Given the description of an element on the screen output the (x, y) to click on. 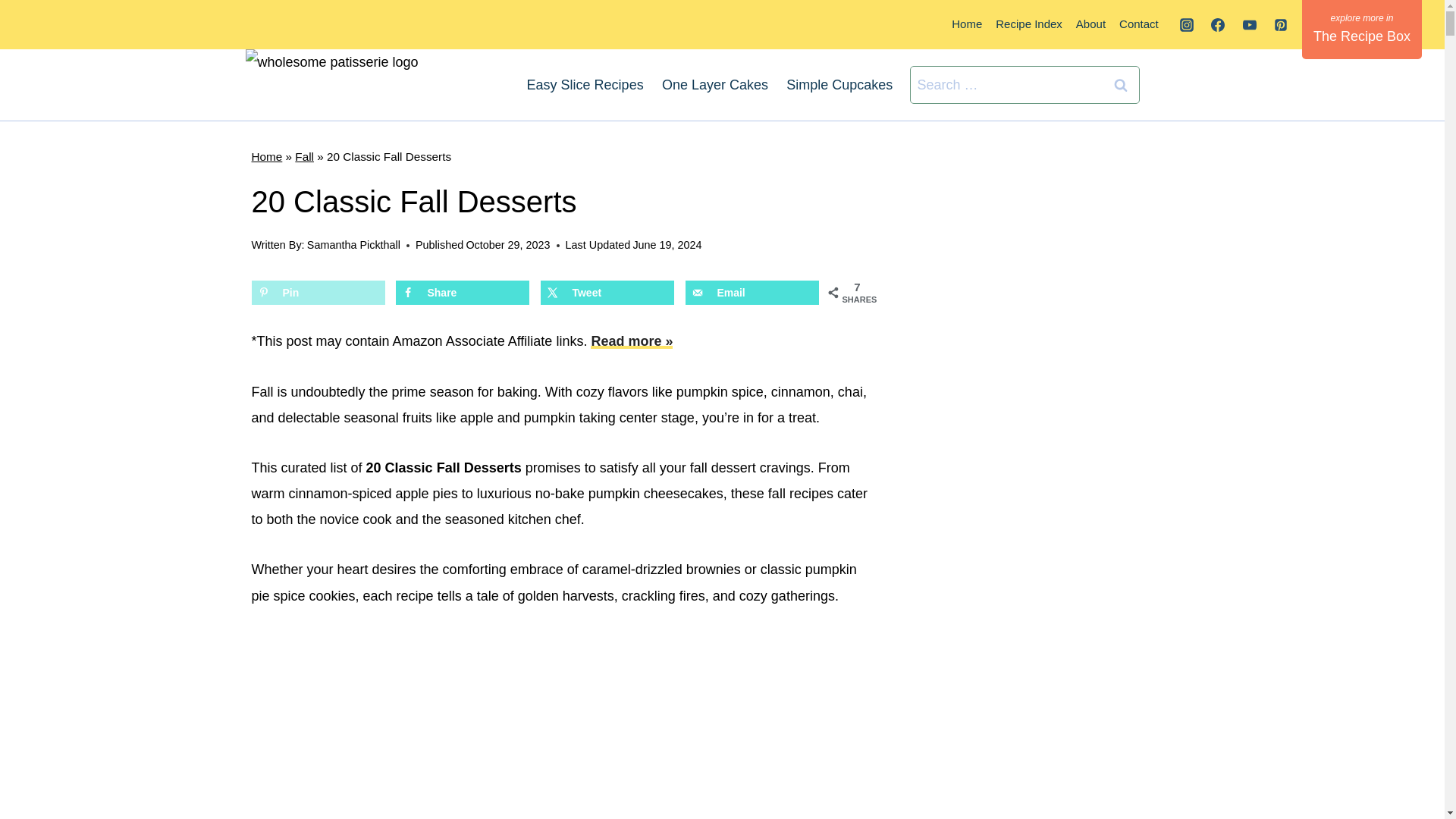
Search (1119, 85)
Samantha Pickthall (353, 244)
Save to Pinterest (318, 292)
Fall (304, 155)
The Recipe Box (1361, 29)
Tweet (607, 292)
Email (751, 292)
Share (462, 292)
Send over email (751, 292)
Easy Slice Recipes (584, 85)
